Given the description of an element on the screen output the (x, y) to click on. 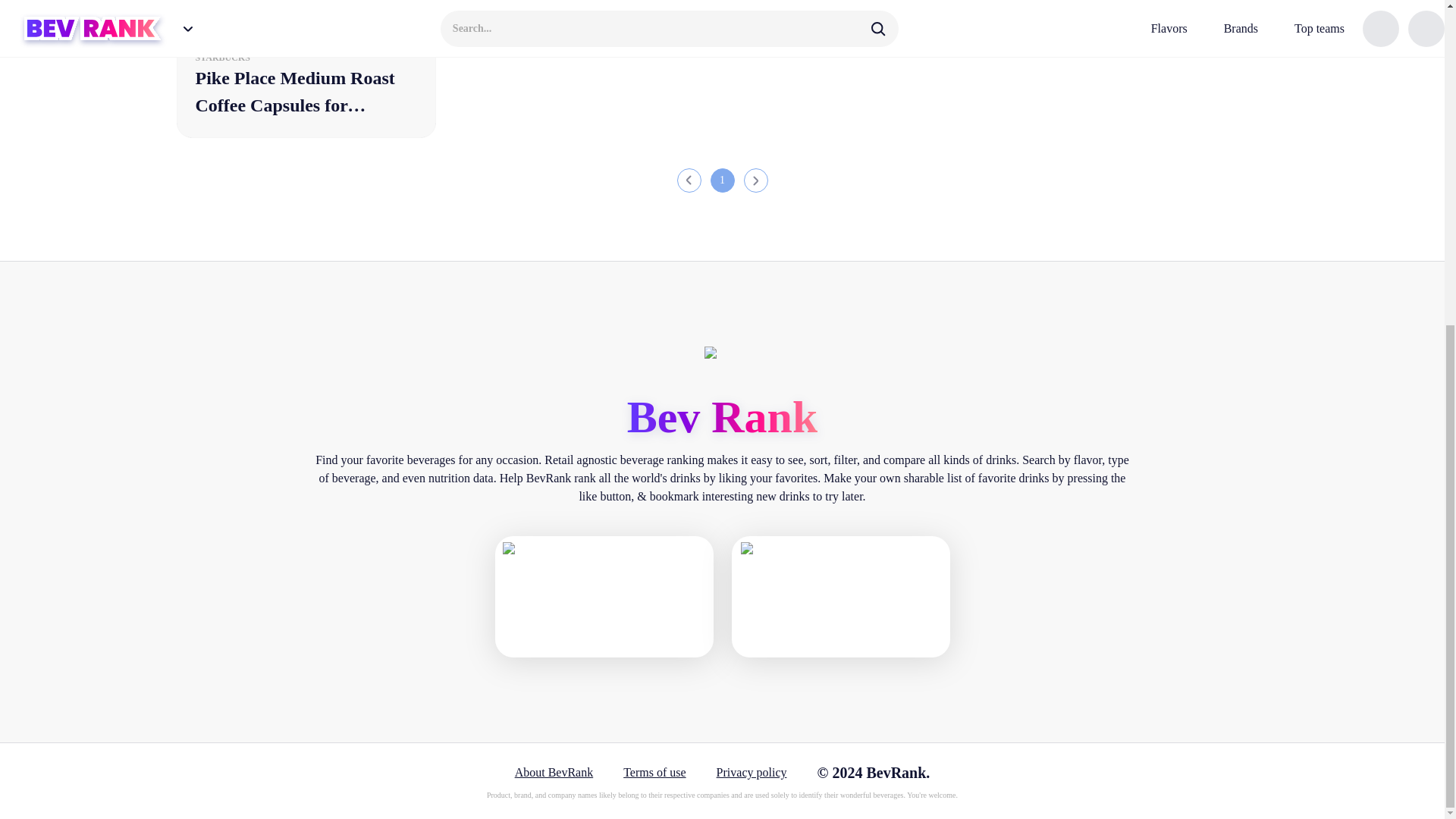
Pike Place Medium Roast Coffee Capsules for Nespresso Vertuo (305, 69)
